Given the description of an element on the screen output the (x, y) to click on. 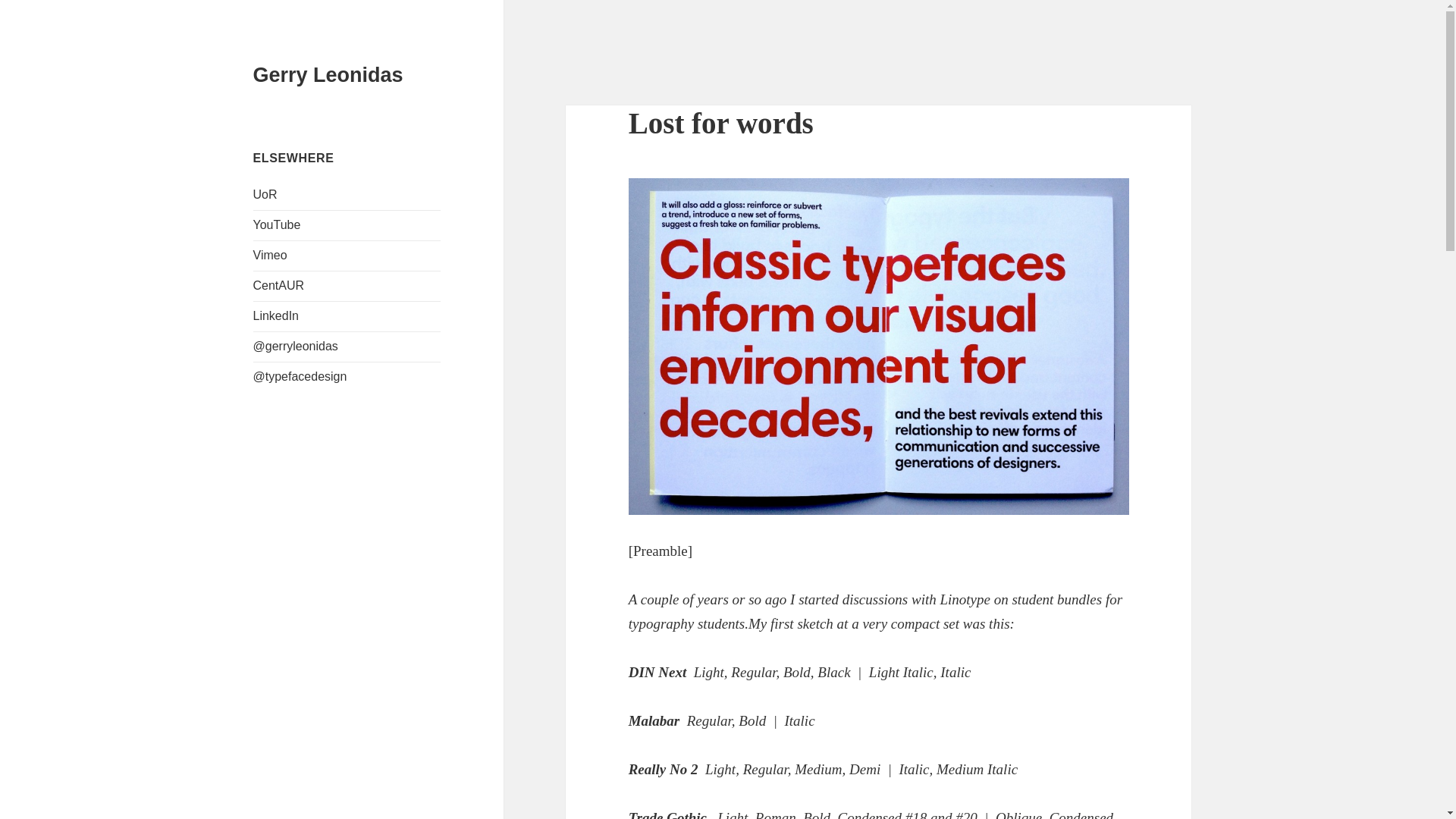
CentAUR (278, 285)
YouTube (277, 224)
Vimeo (269, 254)
Gerry Leonidas (328, 74)
UoR (265, 194)
LinkedIn (276, 315)
